Given the description of an element on the screen output the (x, y) to click on. 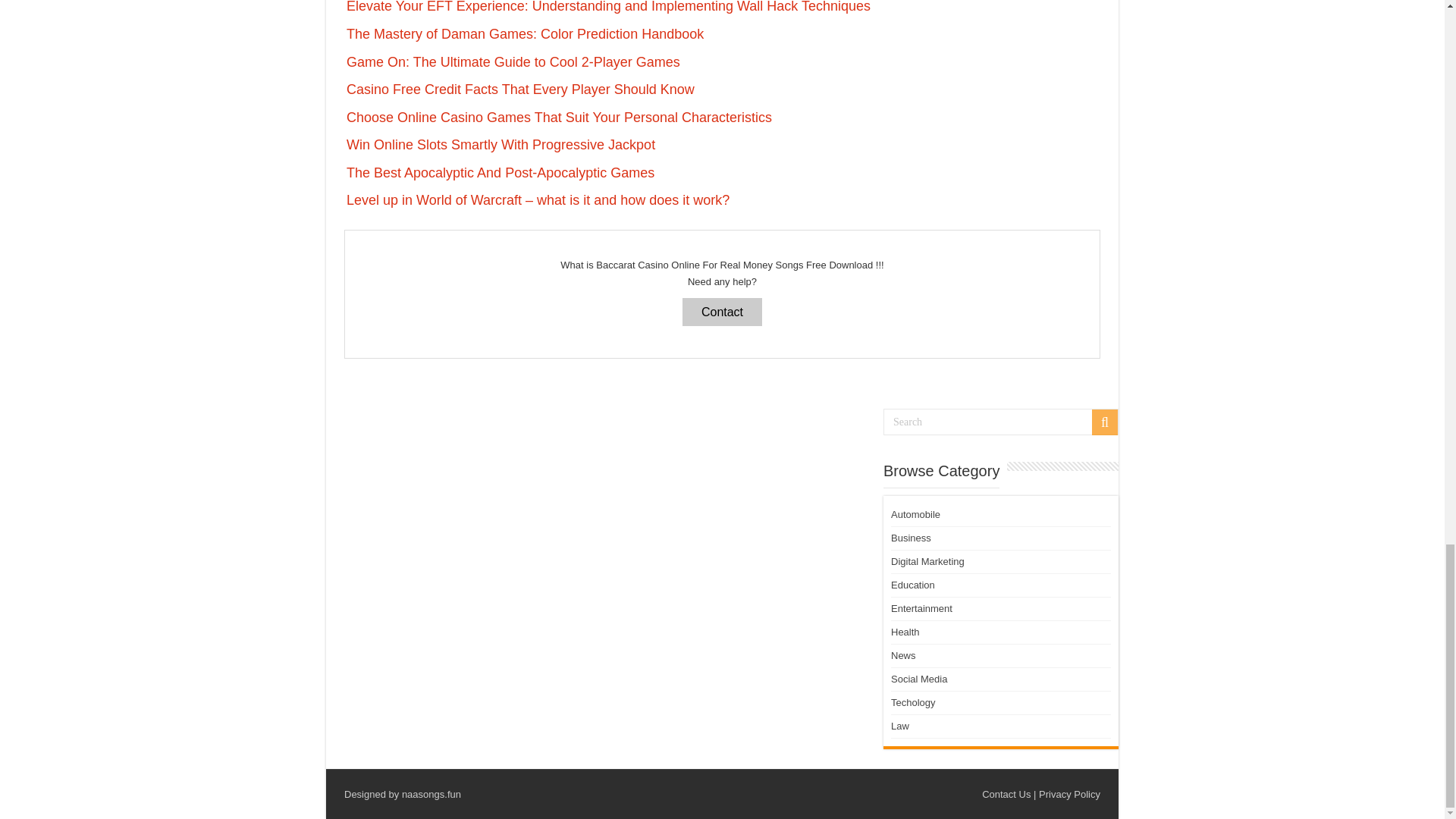
The Mastery of Daman Games: Color Prediction Handbook (524, 33)
Game On: The Ultimate Guide to Cool 2-Player Games (512, 61)
Search (1000, 421)
